Given the description of an element on the screen output the (x, y) to click on. 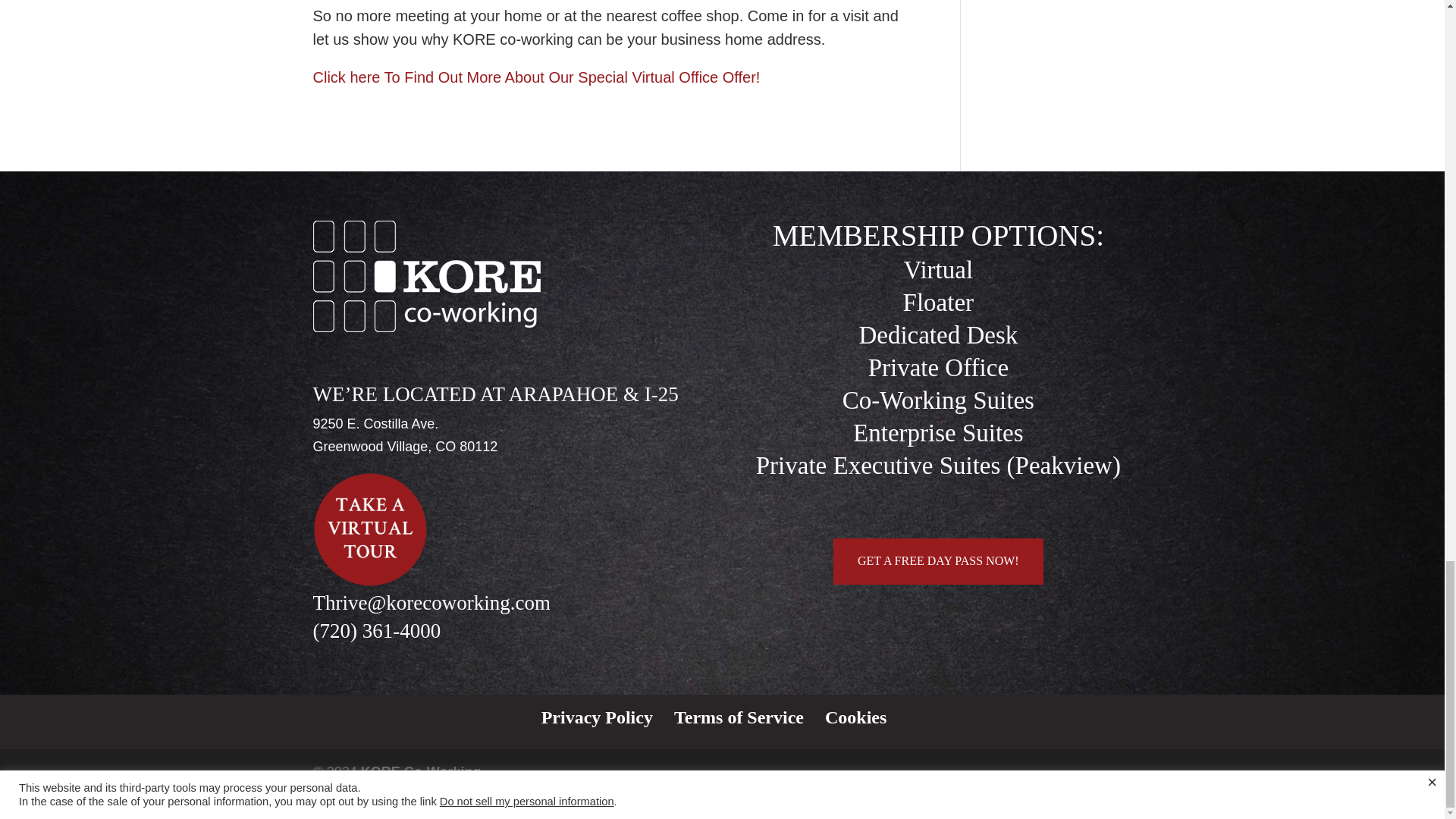
Custom Branding and Web Design, Denver, Centennial, Colorado (351, 795)
